Given the description of an element on the screen output the (x, y) to click on. 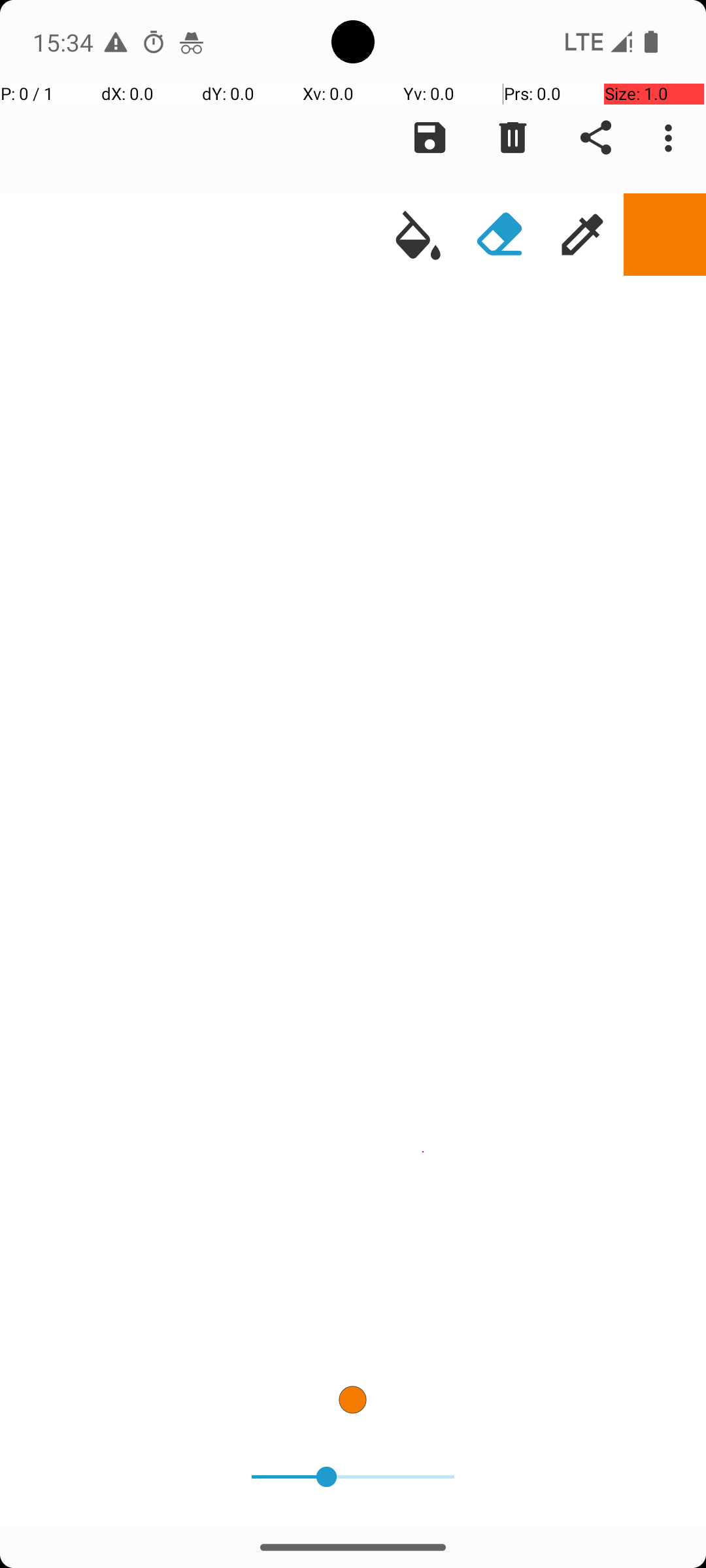
Clear Element type: android.widget.Button (512, 137)
Bucket fill Element type: android.widget.ImageView (417, 234)
Eraser Element type: android.widget.ImageView (499, 234)
Eyedropper Element type: android.widget.ImageView (582, 234)
Change color Element type: android.widget.ImageView (664, 234)
